Given the description of an element on the screen output the (x, y) to click on. 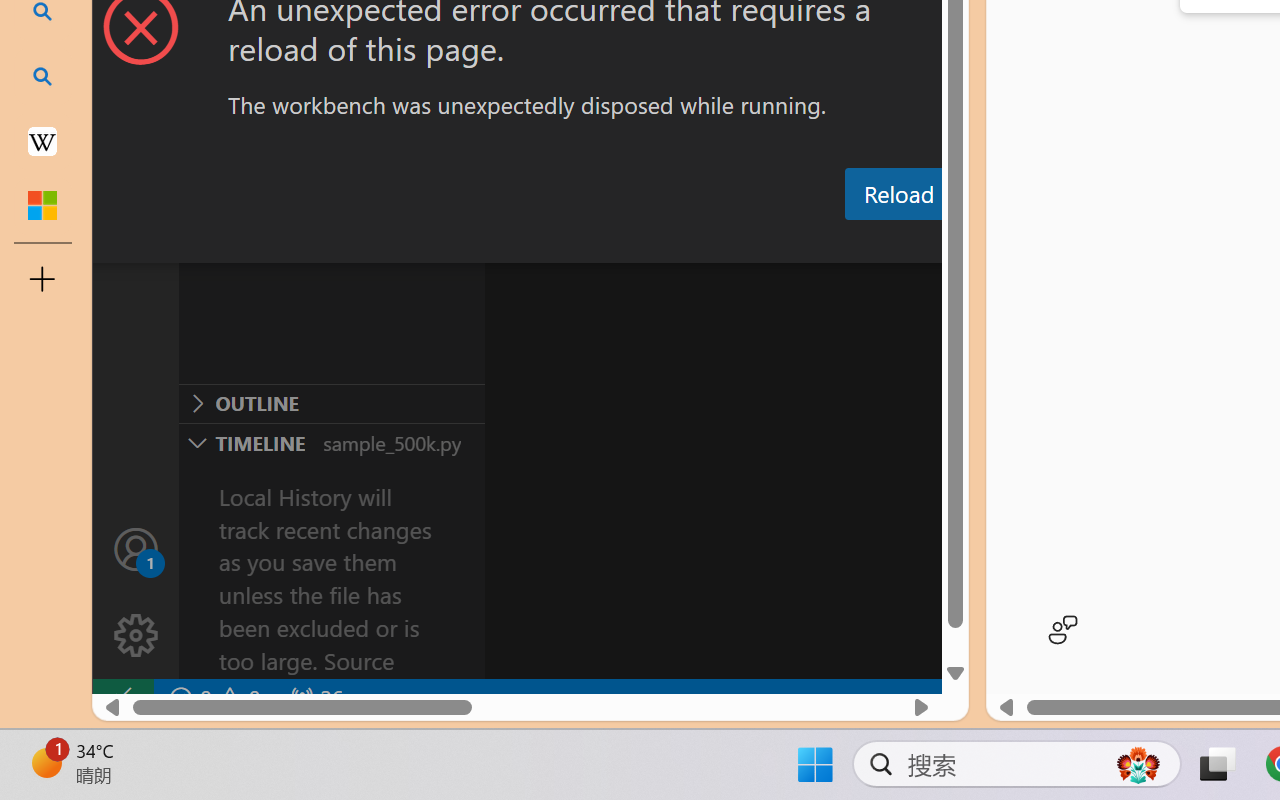
Manage (135, 635)
Problems (Ctrl+Shift+M) (567, 243)
remote (122, 698)
